Given the description of an element on the screen output the (x, y) to click on. 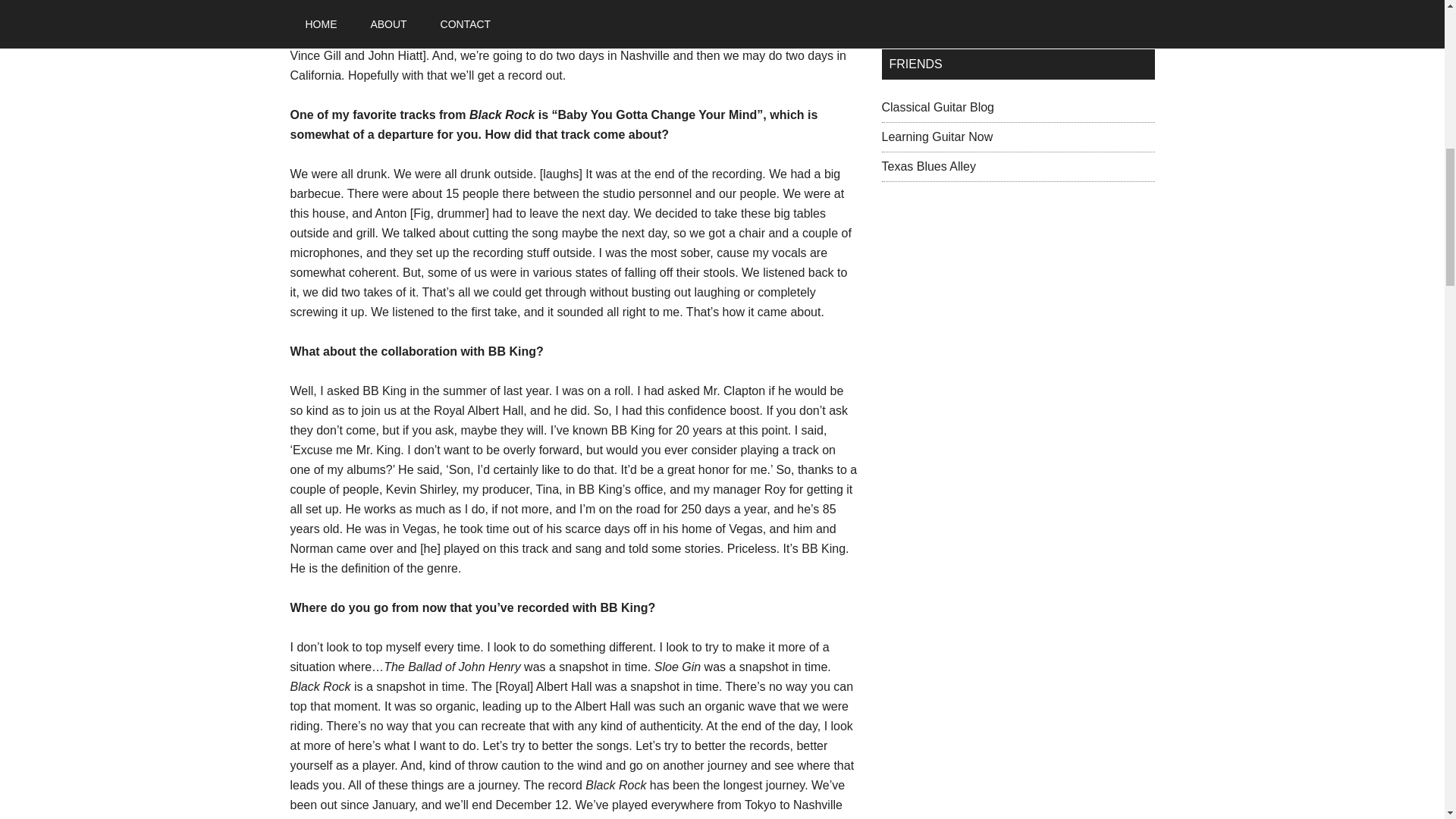
Classical Guitar Blog (937, 106)
Texas Blues Alley (927, 165)
Learning Guitar Now (936, 136)
